Given the description of an element on the screen output the (x, y) to click on. 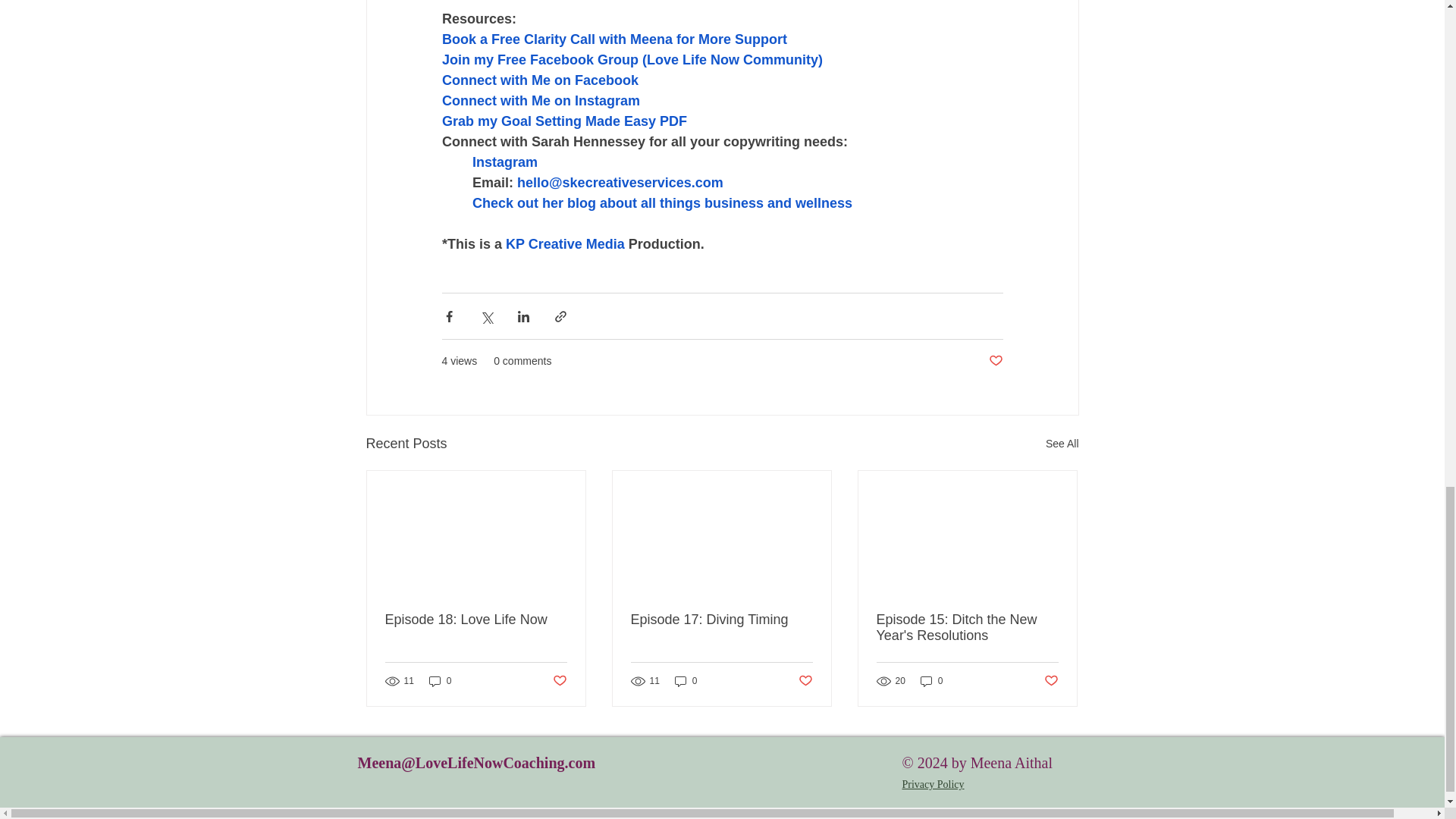
Connect with Me on Instagram (540, 100)
See All (1061, 444)
Episode 18: Love Life Now (476, 619)
Instagram (504, 161)
Post not marked as liked (558, 681)
0 (685, 681)
0 (931, 681)
Post not marked as liked (1050, 681)
Connect with Me on Facebook (539, 79)
Post not marked as liked (804, 681)
Episode 15: Ditch the New Year's Resolutions (967, 627)
Post not marked as liked (995, 360)
Grab my Goal Setting Made Easy PDF (563, 120)
0 (440, 681)
Book a Free Clarity Call with Meena for More Support (613, 38)
